Given the description of an element on the screen output the (x, y) to click on. 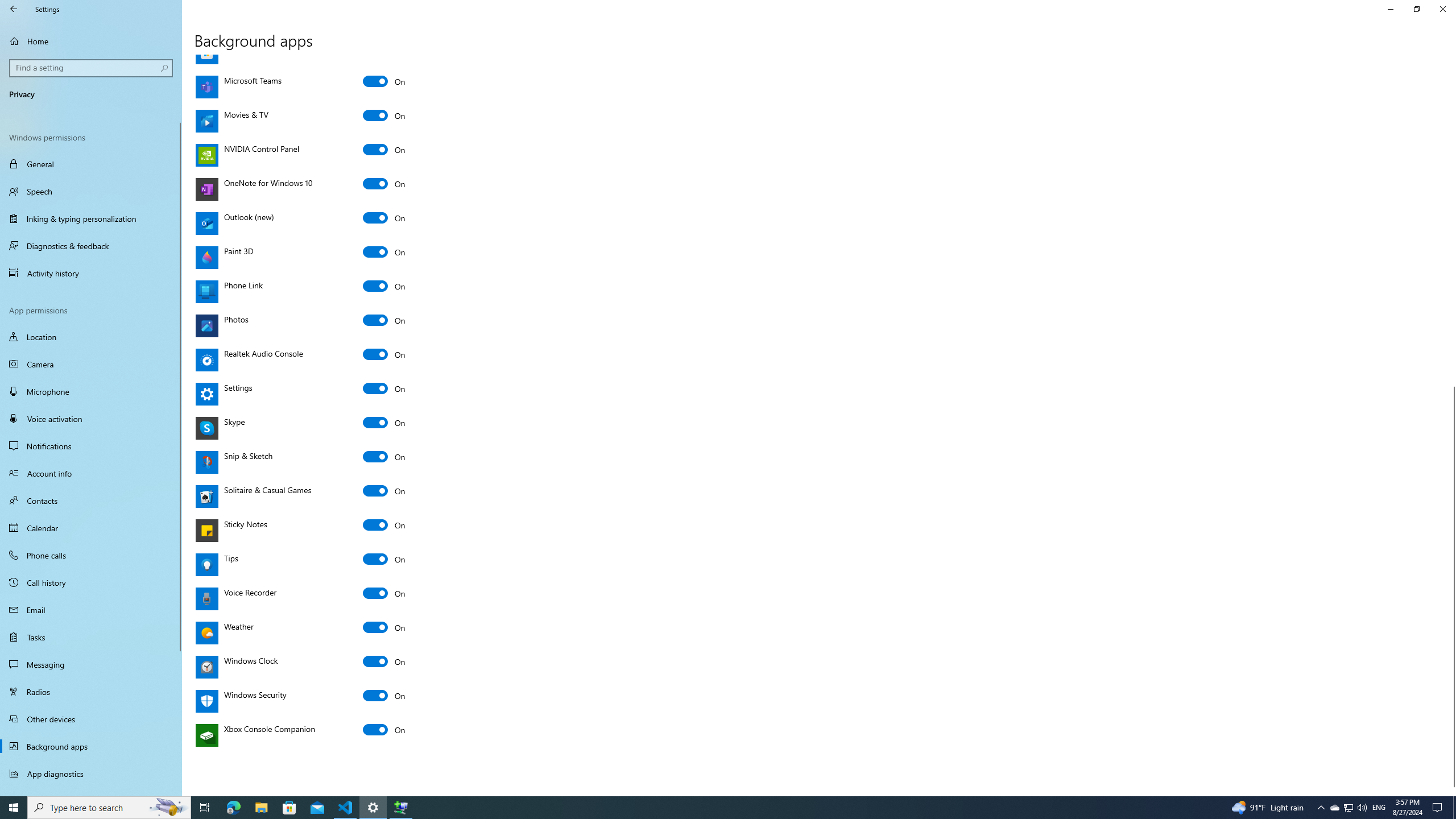
Visual Studio Code - 1 running window (345, 807)
Solitaire & Casual Games (384, 490)
Phone Link (384, 285)
Search box, Find a setting (91, 67)
Photos (384, 320)
Speech (91, 190)
Calendar (91, 527)
Messaging (91, 664)
General (91, 163)
Xbox Console Companion (384, 729)
Start (13, 807)
Paint 3D (384, 252)
Inking & typing personalization (91, 217)
Type here to search (108, 807)
